Given the description of an element on the screen output the (x, y) to click on. 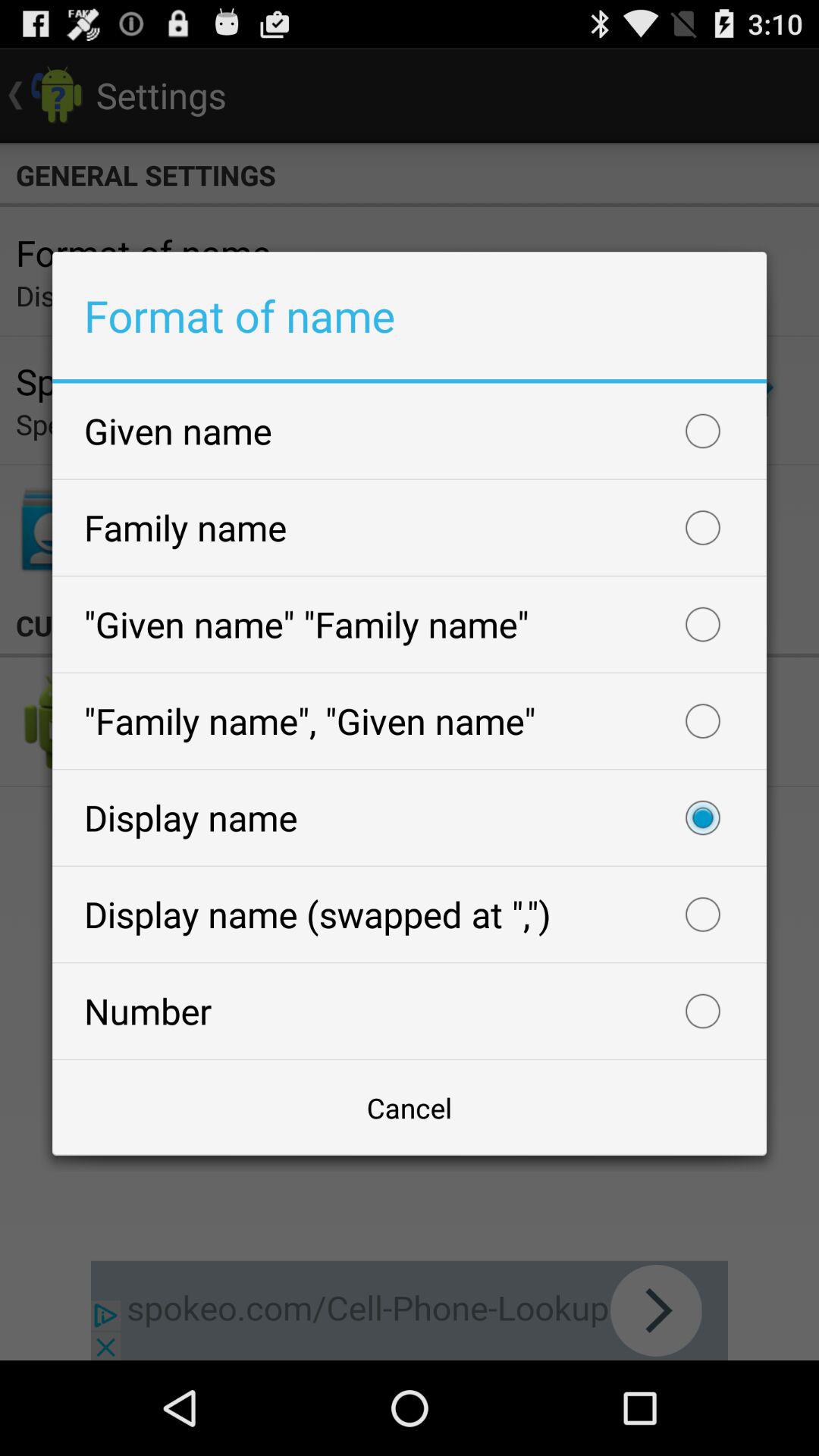
open cancel icon (409, 1107)
